Given the description of an element on the screen output the (x, y) to click on. 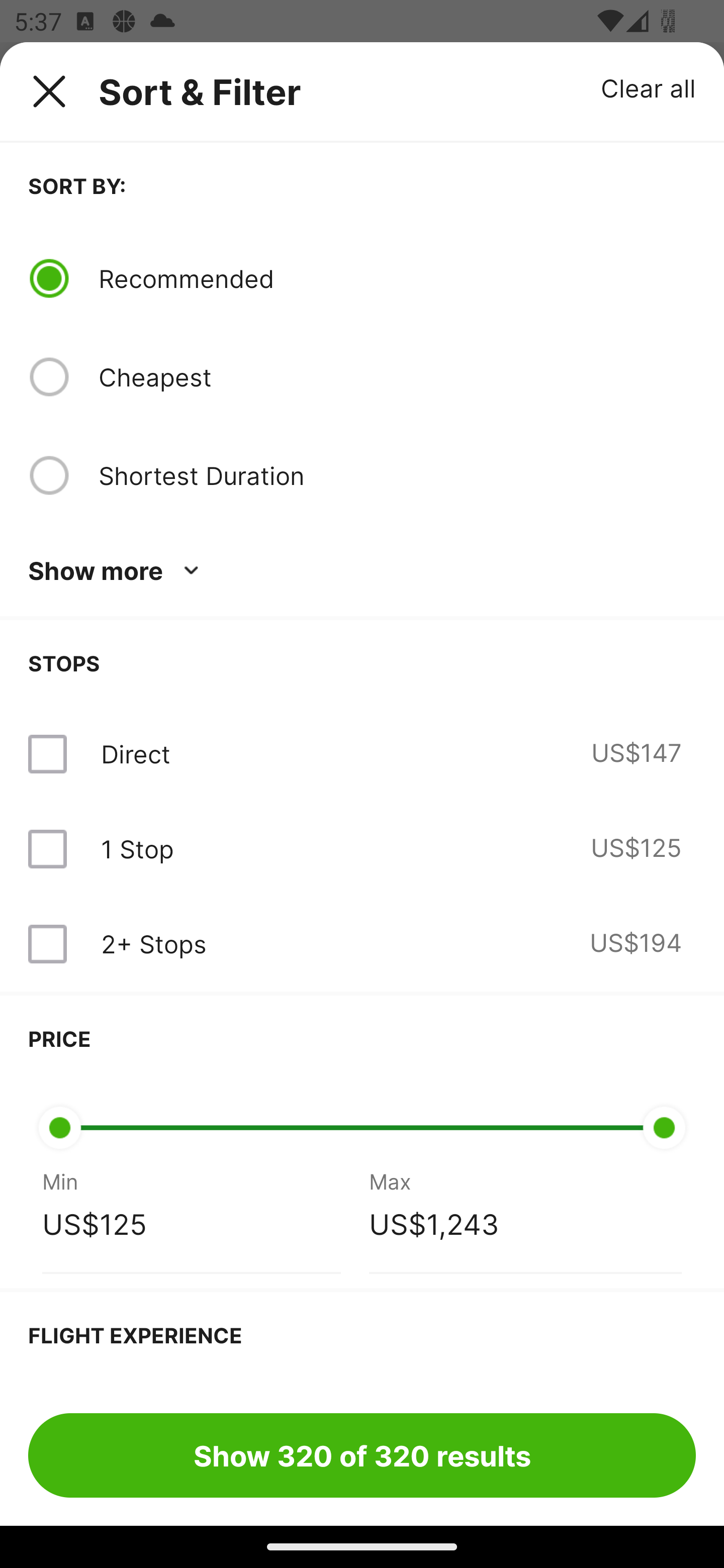
Clear all (648, 87)
Recommended  (396, 278)
Cheapest (396, 377)
Shortest Duration (396, 474)
Show more (116, 570)
Direct US$147 (362, 754)
Direct (135, 753)
1 Stop US$125 (362, 848)
1 Stop (136, 849)
2+ Stops US$194 (362, 943)
2+ Stops (153, 943)
Show 320 of 320 results (361, 1454)
